Given the description of an element on the screen output the (x, y) to click on. 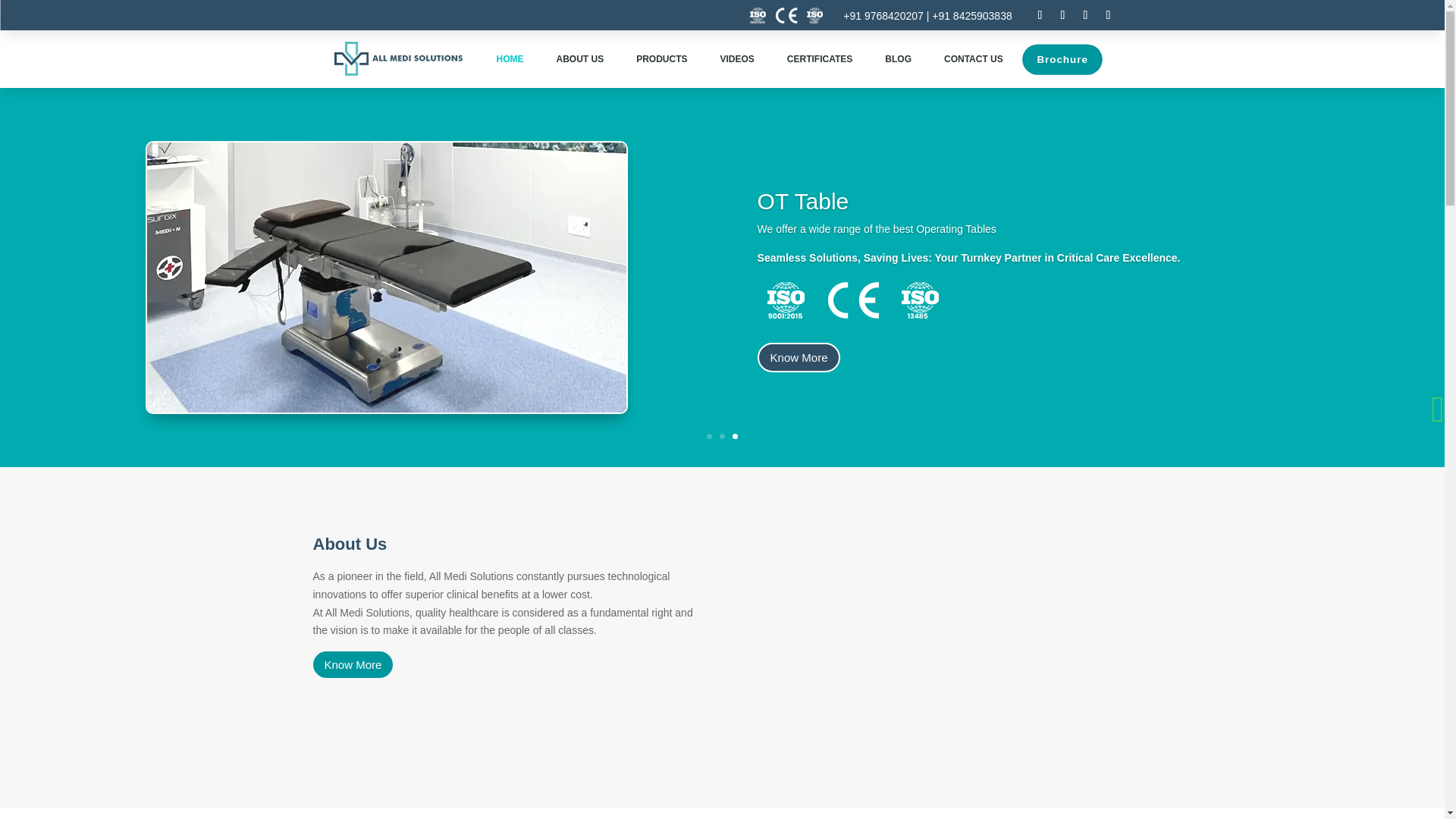
certificates-thumb (786, 15)
CERTIFICATES (819, 58)
Follow on Instagram (1107, 15)
Follow on Youtube (1085, 15)
ABOUT US (579, 58)
Brochure (1063, 60)
Follow on LinkedIn (1039, 15)
Know More (799, 359)
OT Table (802, 203)
PRODUCTS (661, 58)
Follow on Facebook (1061, 15)
Know More (353, 664)
